Given the description of an element on the screen output the (x, y) to click on. 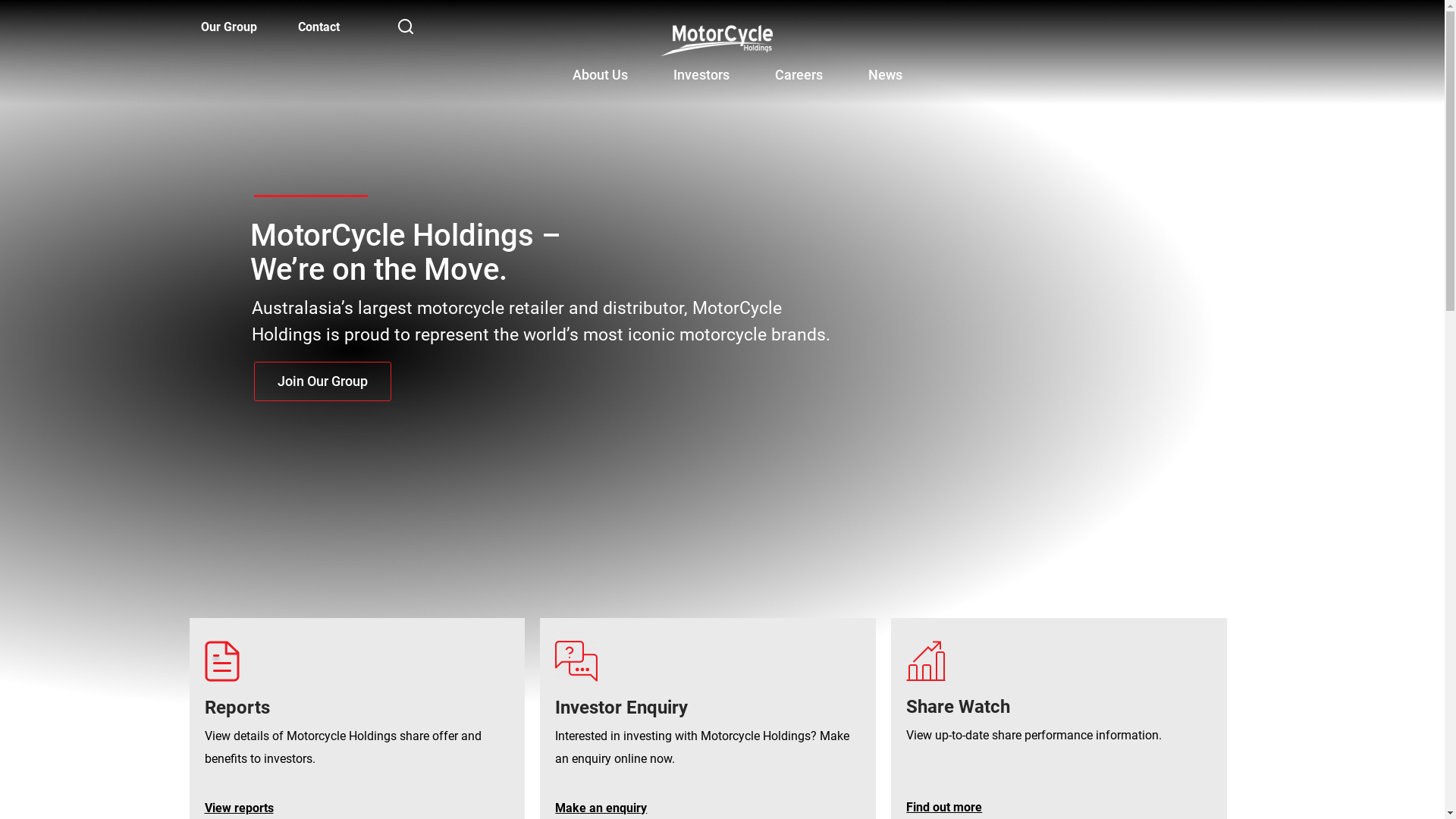
Careers Element type: text (798, 71)
home-icon1 Element type: hover (221, 660)
Share Watch Element type: text (958, 706)
home-icon3 Element type: hover (925, 660)
Make an enquiry Element type: text (600, 807)
View reports Element type: text (238, 807)
Join Our Group Element type: text (322, 381)
About Us Element type: text (600, 71)
Investors Element type: text (701, 71)
Our Group Element type: text (228, 26)
Investor Enquiry Element type: text (621, 707)
Find out more Element type: text (944, 807)
MH Icon Element type: hover (576, 660)
News Element type: text (884, 71)
Reports Element type: text (236, 707)
Contact Element type: text (317, 26)
